Given the description of an element on the screen output the (x, y) to click on. 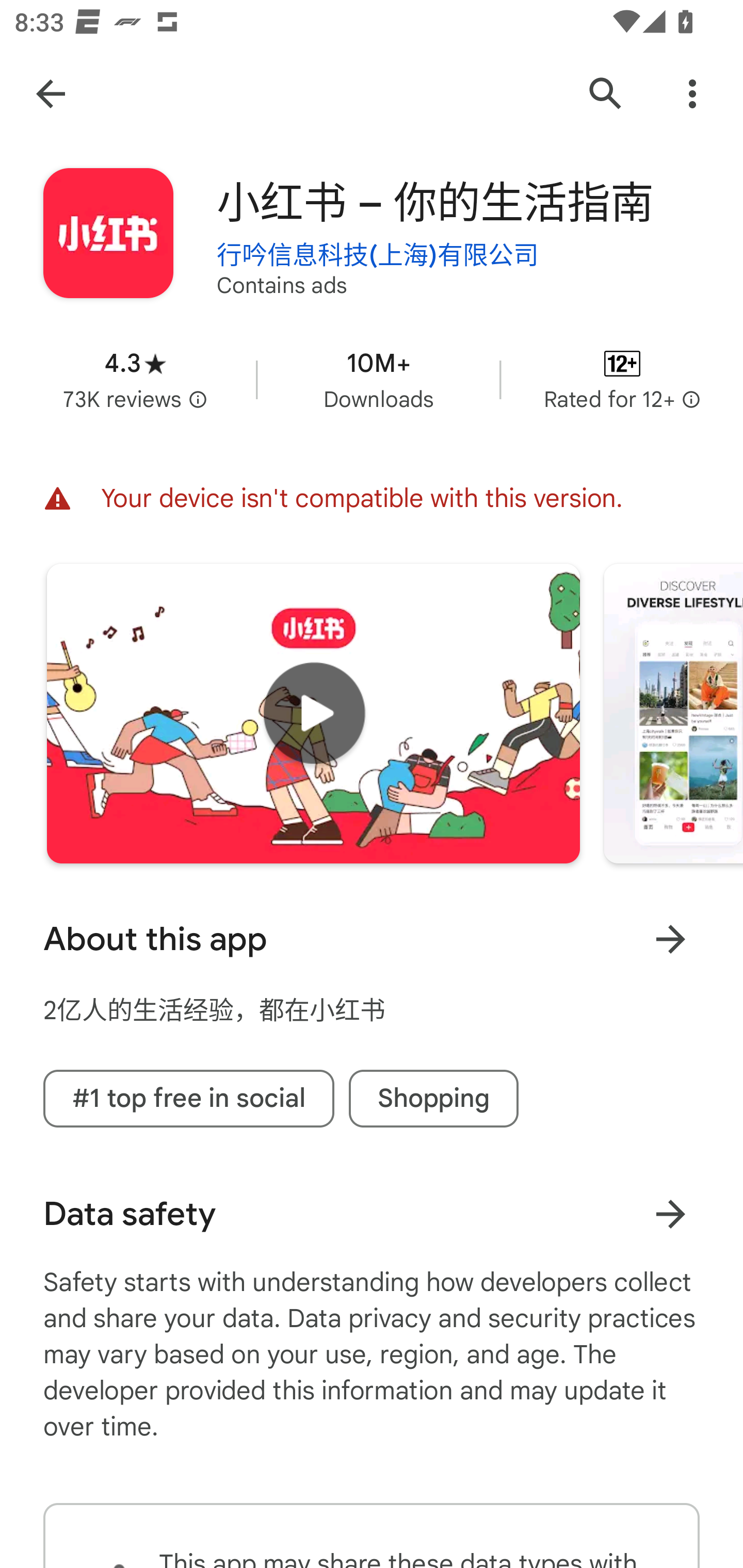
Navigate up (50, 93)
Search Google Play (605, 93)
More Options (692, 93)
行吟信息科技(上海)有限公司 (377, 253)
Average rating 4.3 stars in 73 thousand reviews (135, 379)
Content rating Rated for 12+ (622, 379)
Play trailer for "小红书 – 你的生活指南" (313, 713)
About this app Learn more About this app (371, 939)
Learn more About this app (670, 939)
#1 top free in social tag (188, 1098)
Shopping tag (433, 1098)
Data safety Learn more about data safety (371, 1214)
Learn more about data safety (670, 1214)
